Given the description of an element on the screen output the (x, y) to click on. 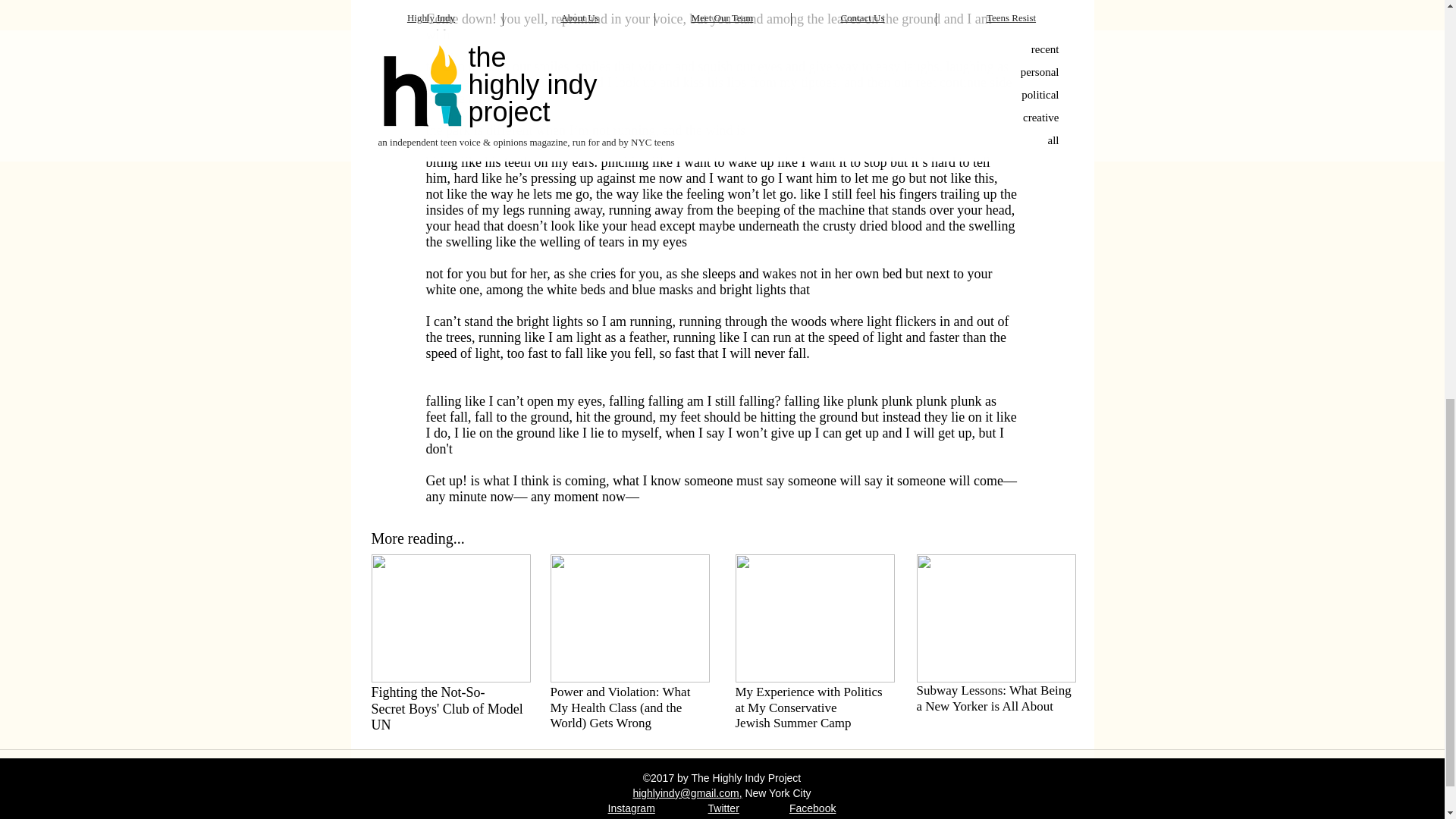
Twitter (723, 808)
file.jpg (815, 618)
Facebook (812, 808)
Subway Lessons: What Being a New Yorker is All About (992, 697)
Fighting the Not-So-Secret Boys' Club of Model UN (446, 708)
Instagram (631, 808)
